Given the description of an element on the screen output the (x, y) to click on. 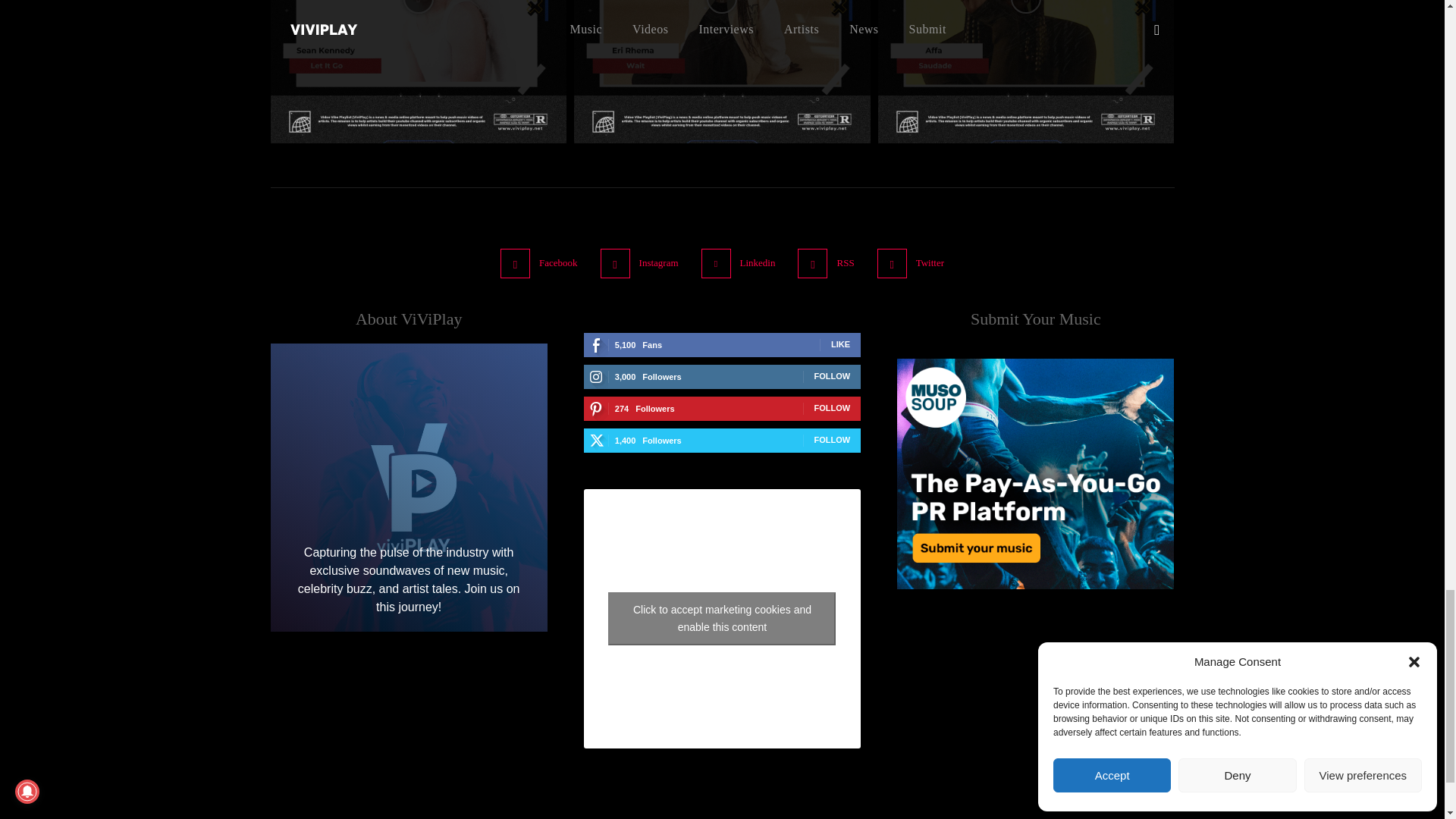
Facebook (514, 263)
Instagram (614, 263)
